Given the description of an element on the screen output the (x, y) to click on. 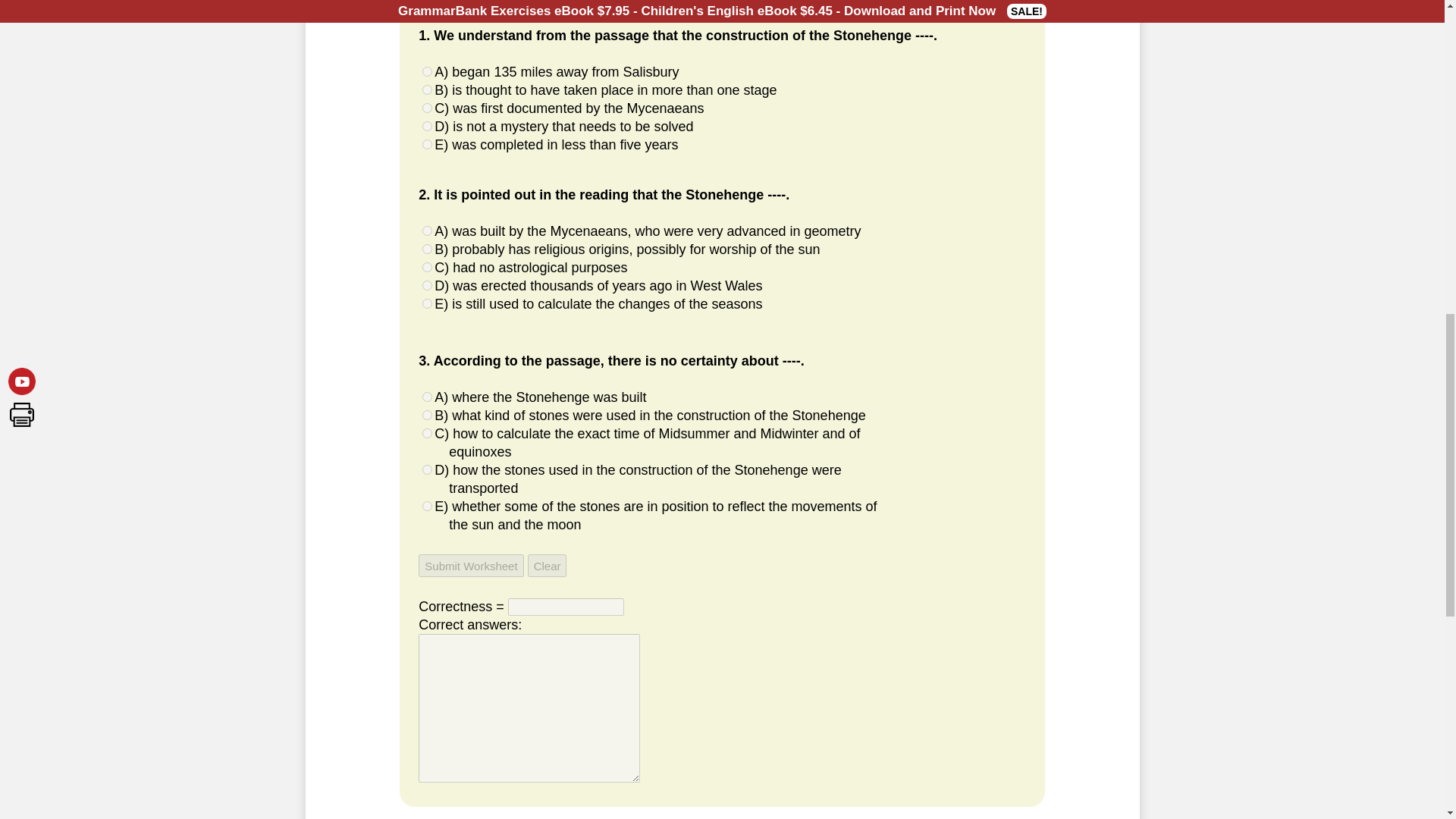
Submit Worksheet (470, 565)
B (427, 90)
B (427, 248)
D (427, 470)
Clear (547, 565)
